Given the description of an element on the screen output the (x, y) to click on. 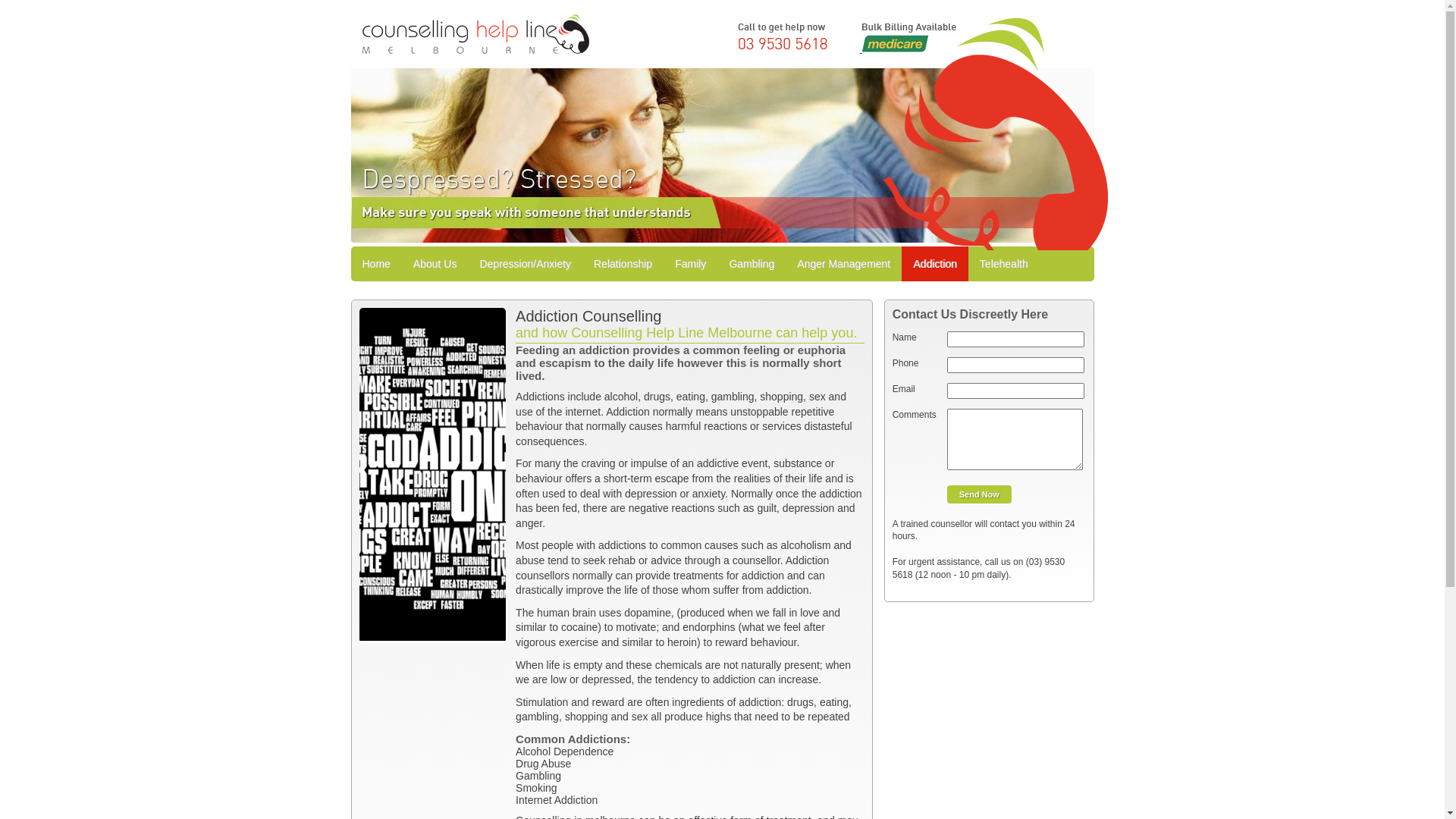
Anger Management Element type: text (843, 263)
Home Element type: text (376, 263)
Relationship Element type: text (622, 263)
Depression/Anxiety Element type: text (525, 263)
Telehealth Element type: text (1003, 263)
About Us Element type: text (435, 263)
Gambling Element type: text (751, 263)
Send Now Element type: text (979, 494)
Addiction Element type: text (935, 263)
Family Element type: text (690, 263)
